Given the description of an element on the screen output the (x, y) to click on. 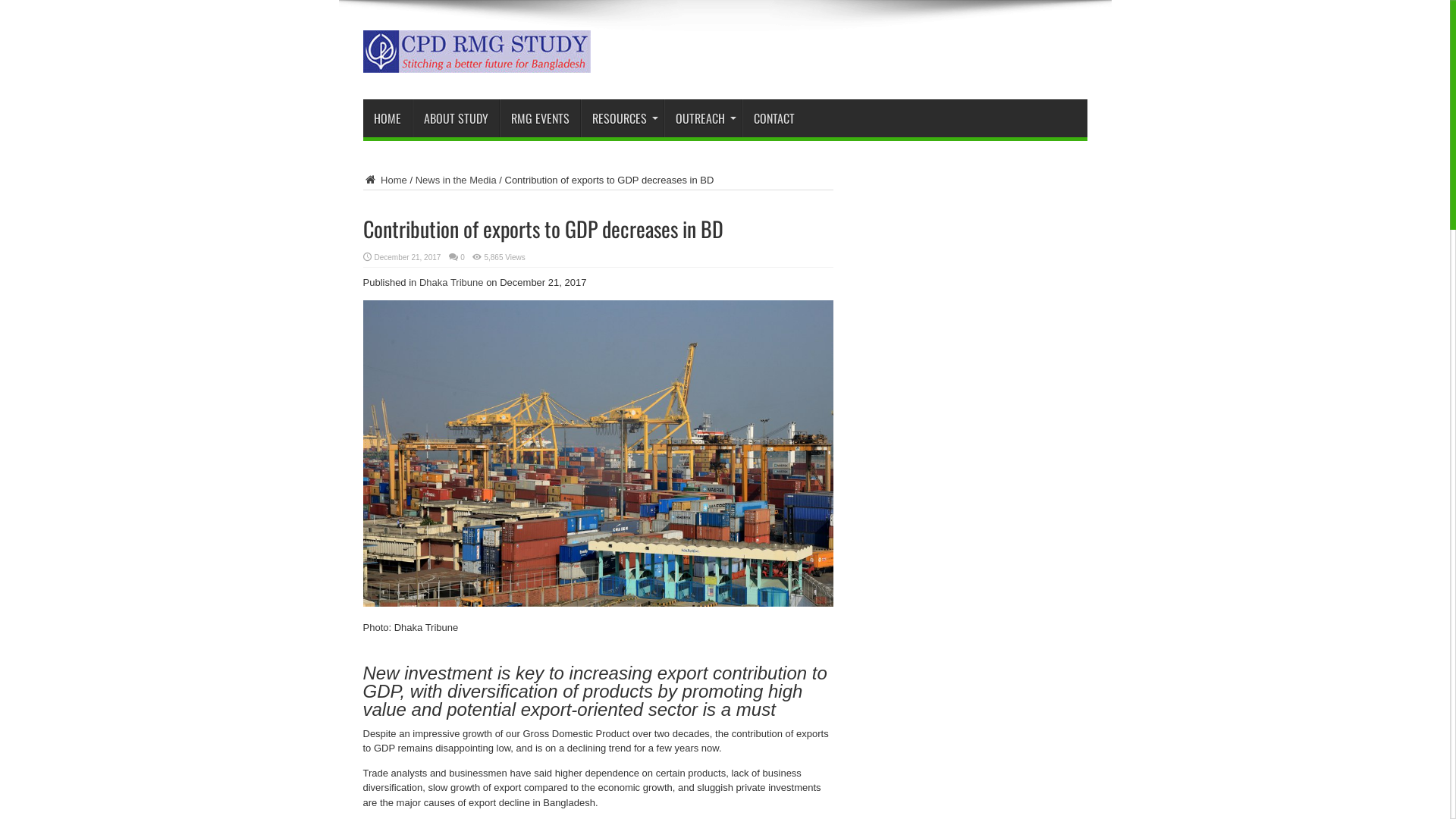
0 Element type: text (462, 257)
Dhaka Tribune Element type: text (451, 282)
HOME Element type: text (386, 118)
Home Element type: text (384, 179)
ABOUT STUDY Element type: text (455, 118)
RESOURCES Element type: text (621, 118)
OUTREACH Element type: text (702, 118)
News in the Media Element type: text (455, 179)
CONTACT Element type: text (772, 118)
CPD RMG Study Element type: hover (475, 61)
RMG EVENTS Element type: text (538, 118)
